Given the description of an element on the screen output the (x, y) to click on. 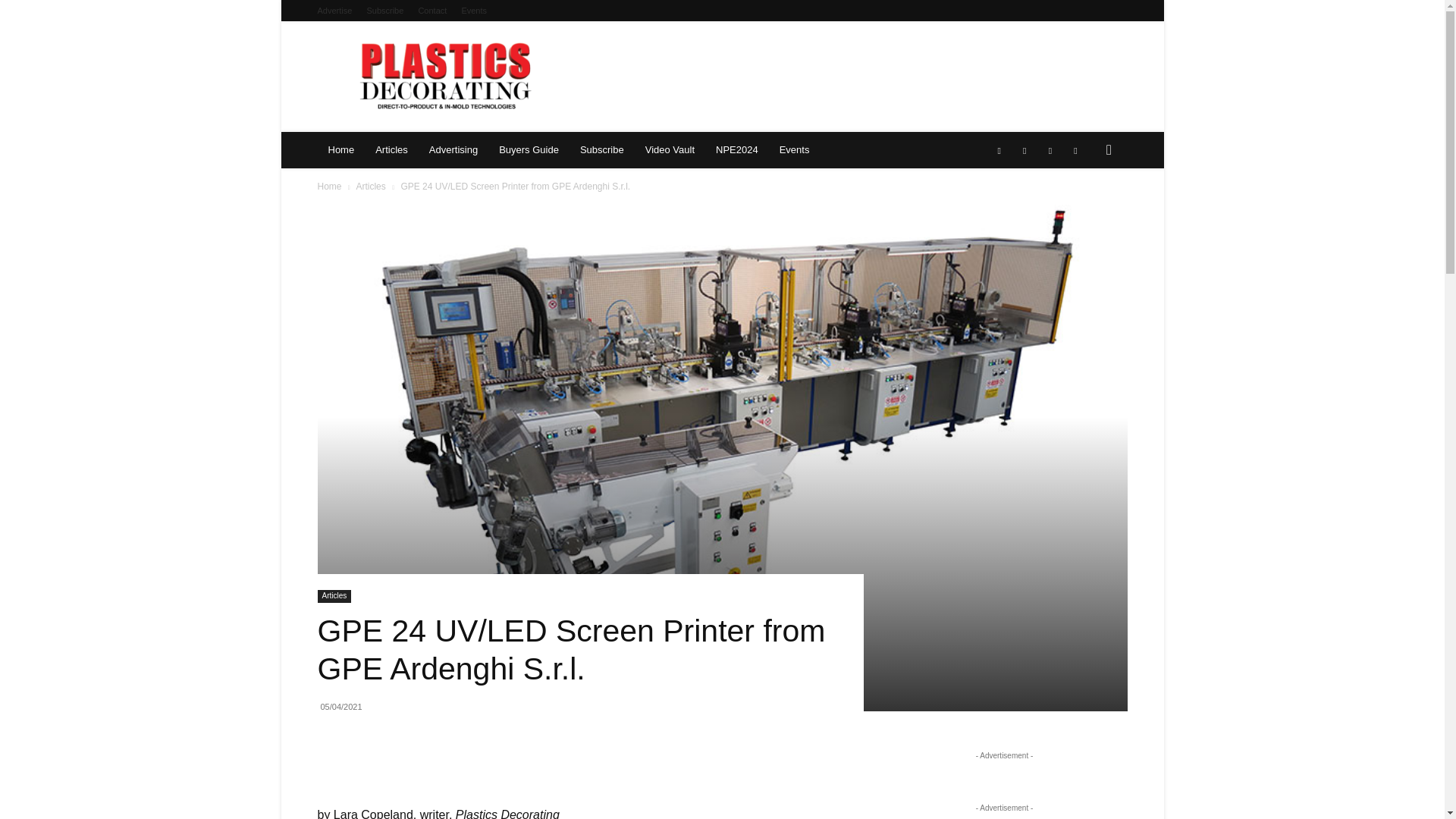
Advertising (453, 149)
Home (341, 149)
Contact (431, 10)
Plastics Decorating Magazine (446, 76)
Subscribe (384, 10)
Events (473, 10)
Articles (392, 149)
Advertise (334, 10)
View all posts in Articles (370, 185)
